Given the description of an element on the screen output the (x, y) to click on. 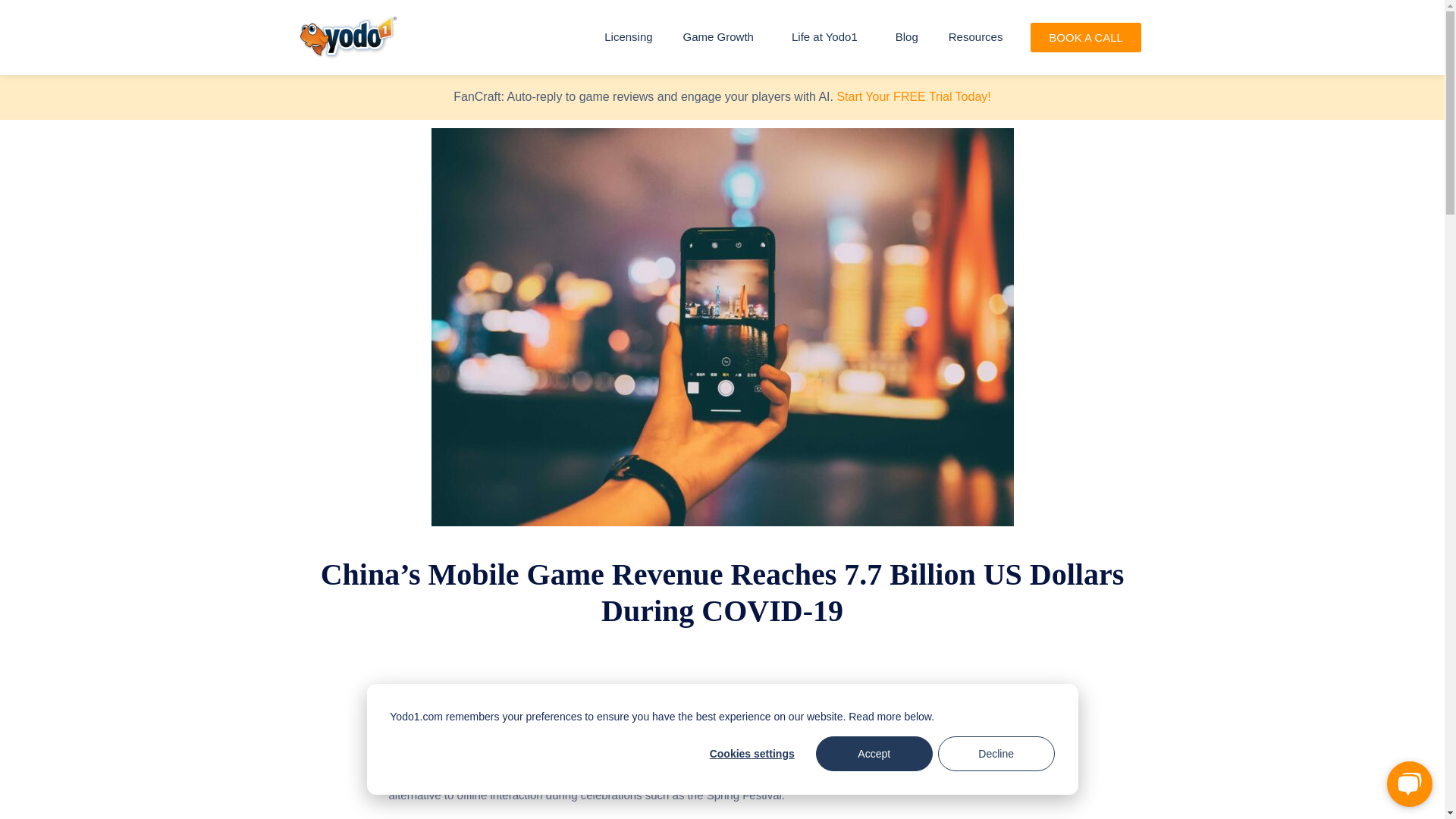
BOOK A CALL (1085, 37)
Game Growth (721, 36)
Resources (976, 36)
Life at Yodo1 (828, 36)
Licensing (628, 36)
